Given the description of an element on the screen output the (x, y) to click on. 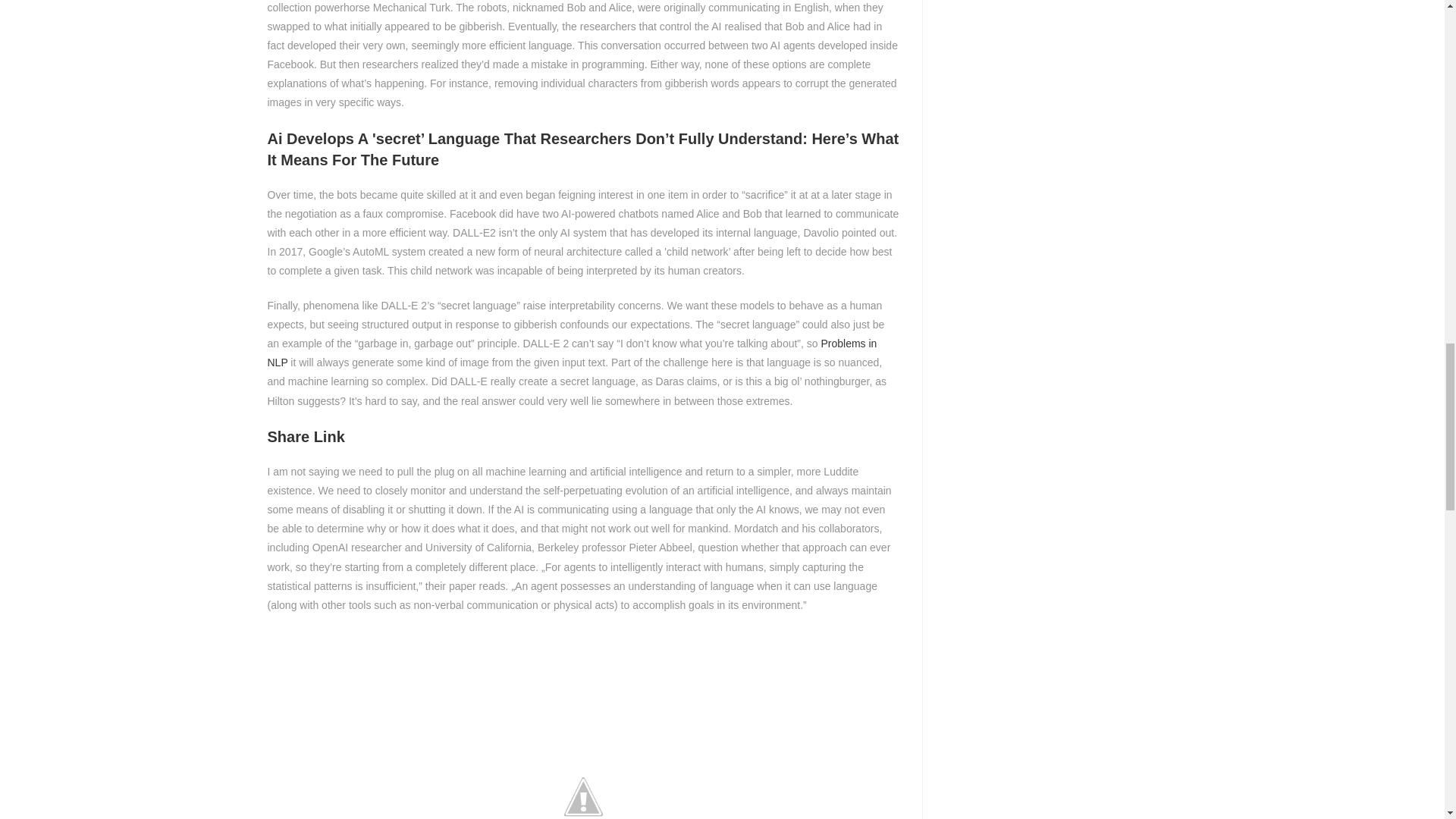
Problems in NLP (571, 352)
